Given the description of an element on the screen output the (x, y) to click on. 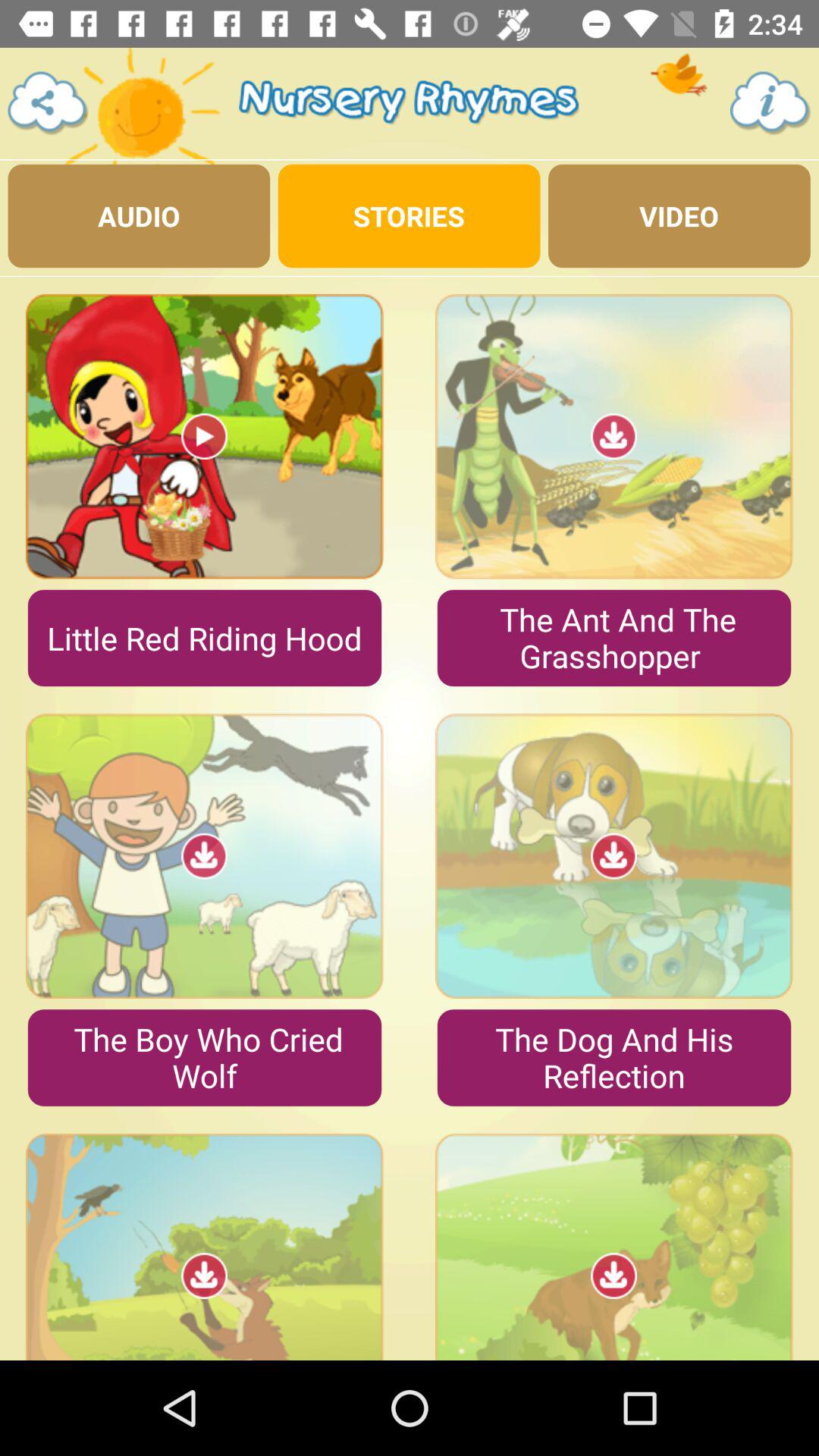
share the article (47, 103)
